Given the description of an element on the screen output the (x, y) to click on. 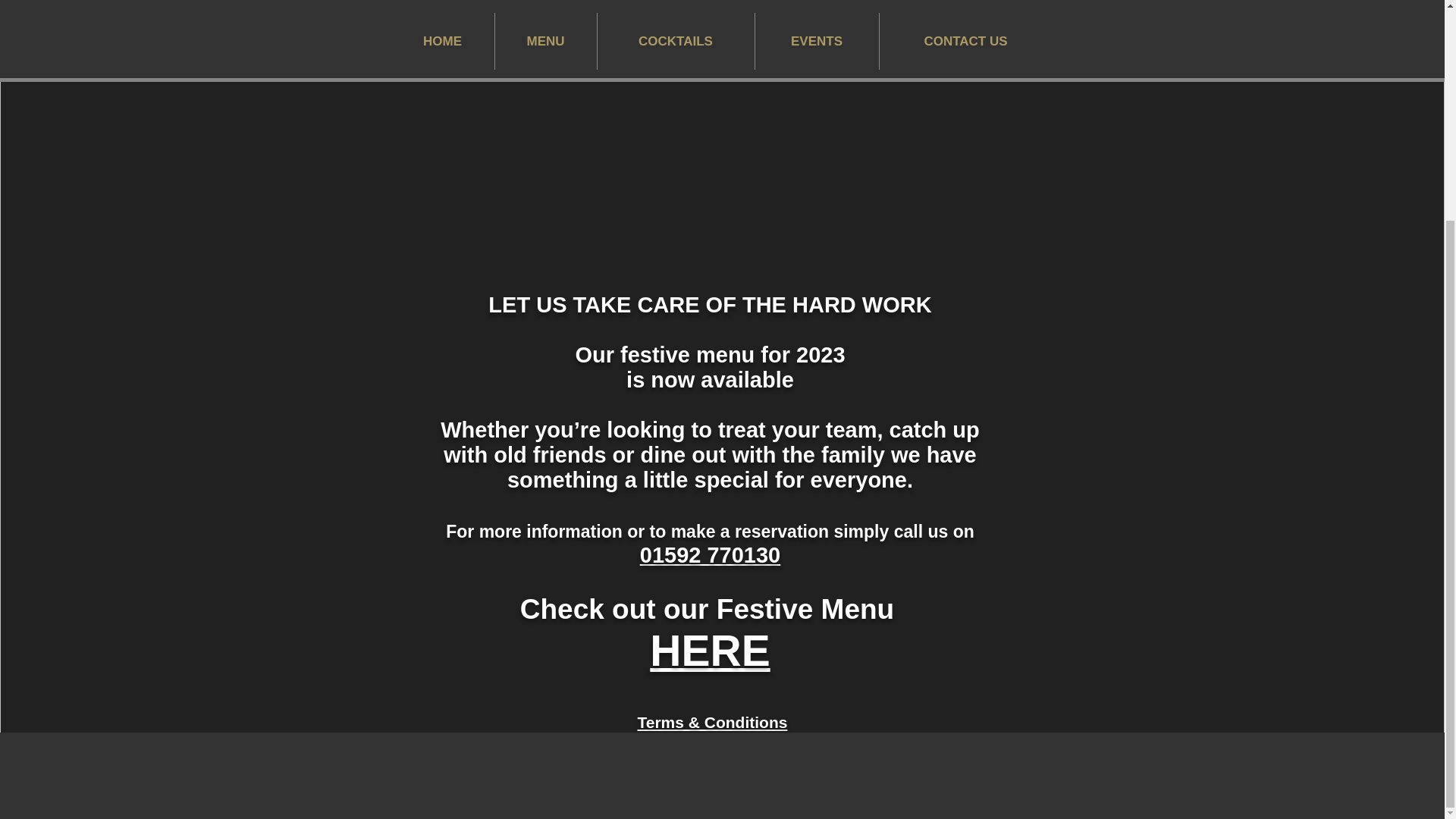
HERE (709, 650)
01592 770130 (710, 554)
